Given the description of an element on the screen output the (x, y) to click on. 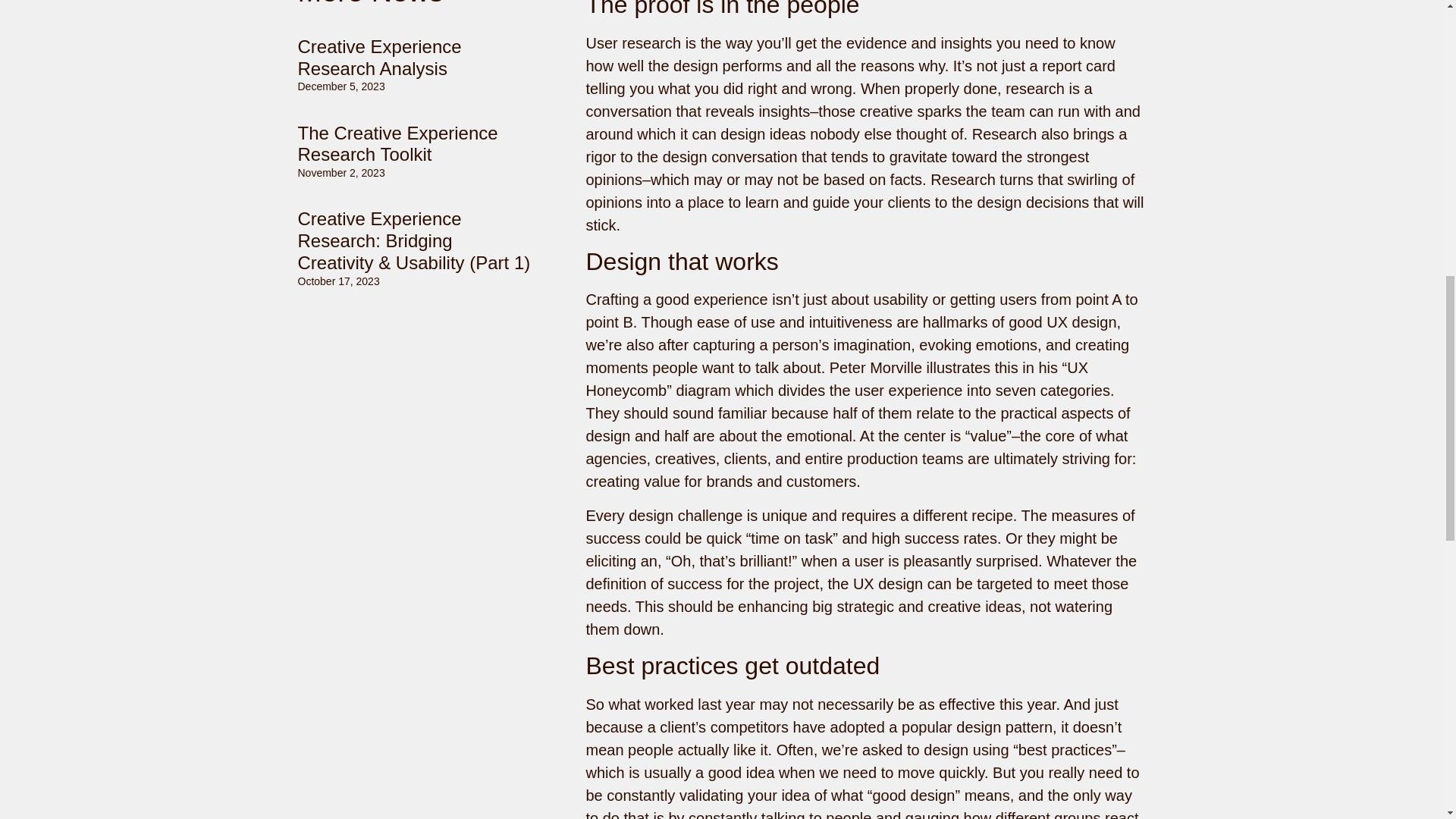
Creative Experience Research Analysis (379, 57)
The Creative Experience Research Toolkit (397, 143)
